Given the description of an element on the screen output the (x, y) to click on. 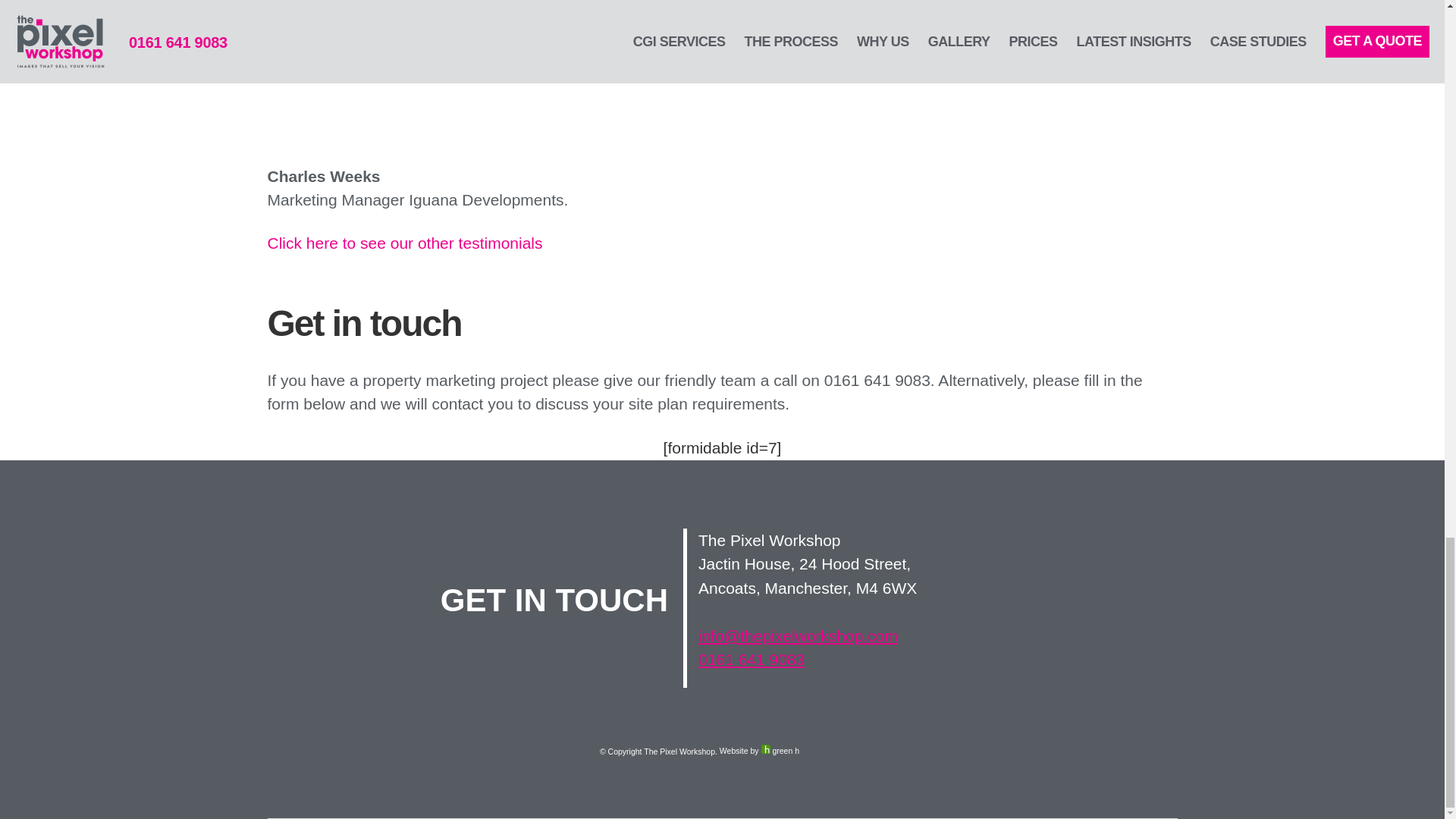
0161 641 9083 (751, 659)
Click here to see our other testimonials (403, 242)
Website by green h (759, 745)
